Given the description of an element on the screen output the (x, y) to click on. 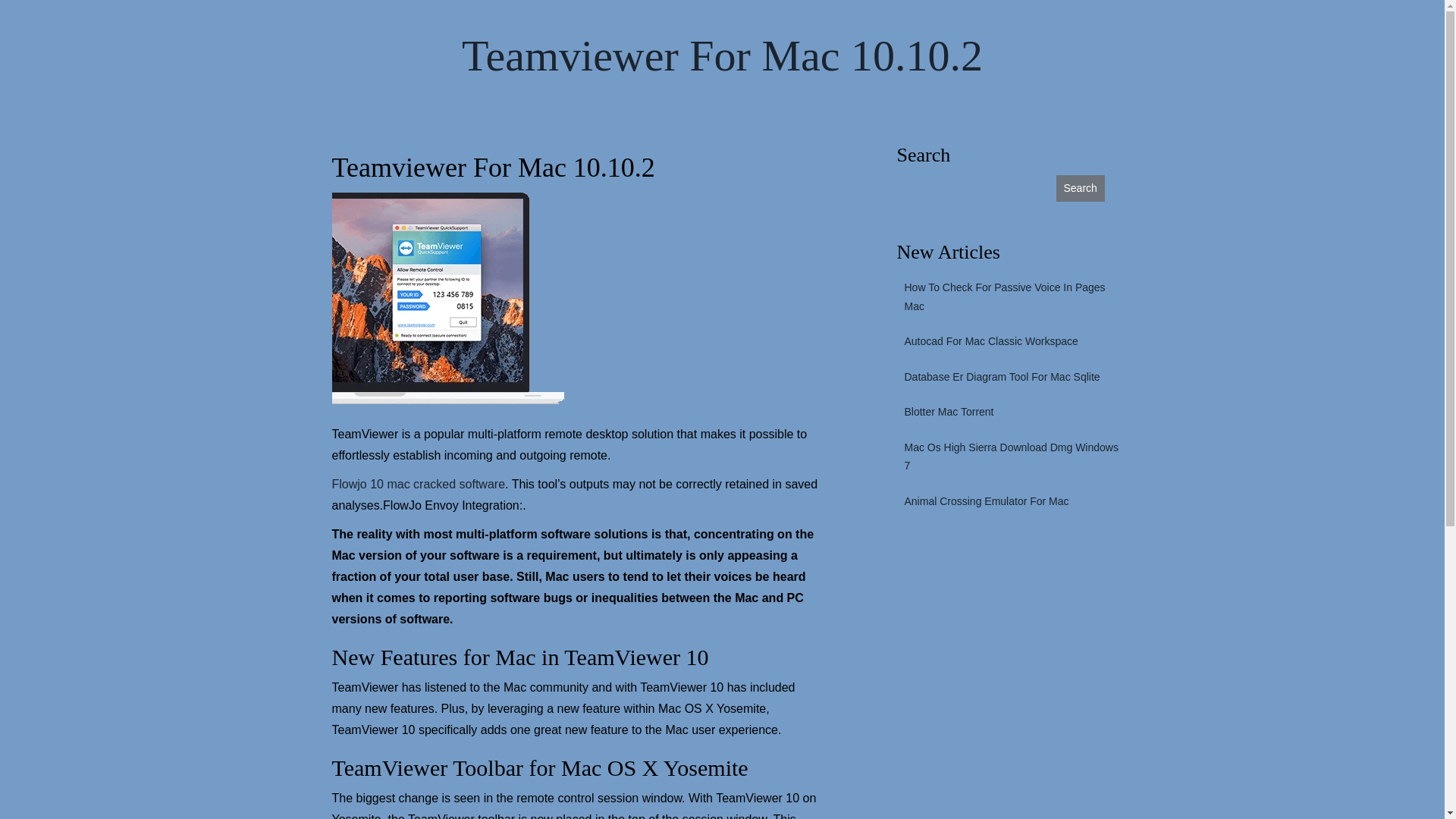
Autocad For Mac Classic Workspace (986, 341)
Search (1079, 188)
Blotter Mac Torrent (944, 411)
Search (1079, 188)
Flowjo 10 mac cracked software (418, 485)
Mac Os High Sierra Download Dmg Windows 7 (1010, 457)
Animal Crossing Emulator For Mac (982, 501)
Flowjo 10 mac cracked software (418, 485)
Database Er Diagram Tool For Mac Sqlite (997, 377)
How To Check For Passive Voice In Pages Mac (1010, 297)
